Given the description of an element on the screen output the (x, y) to click on. 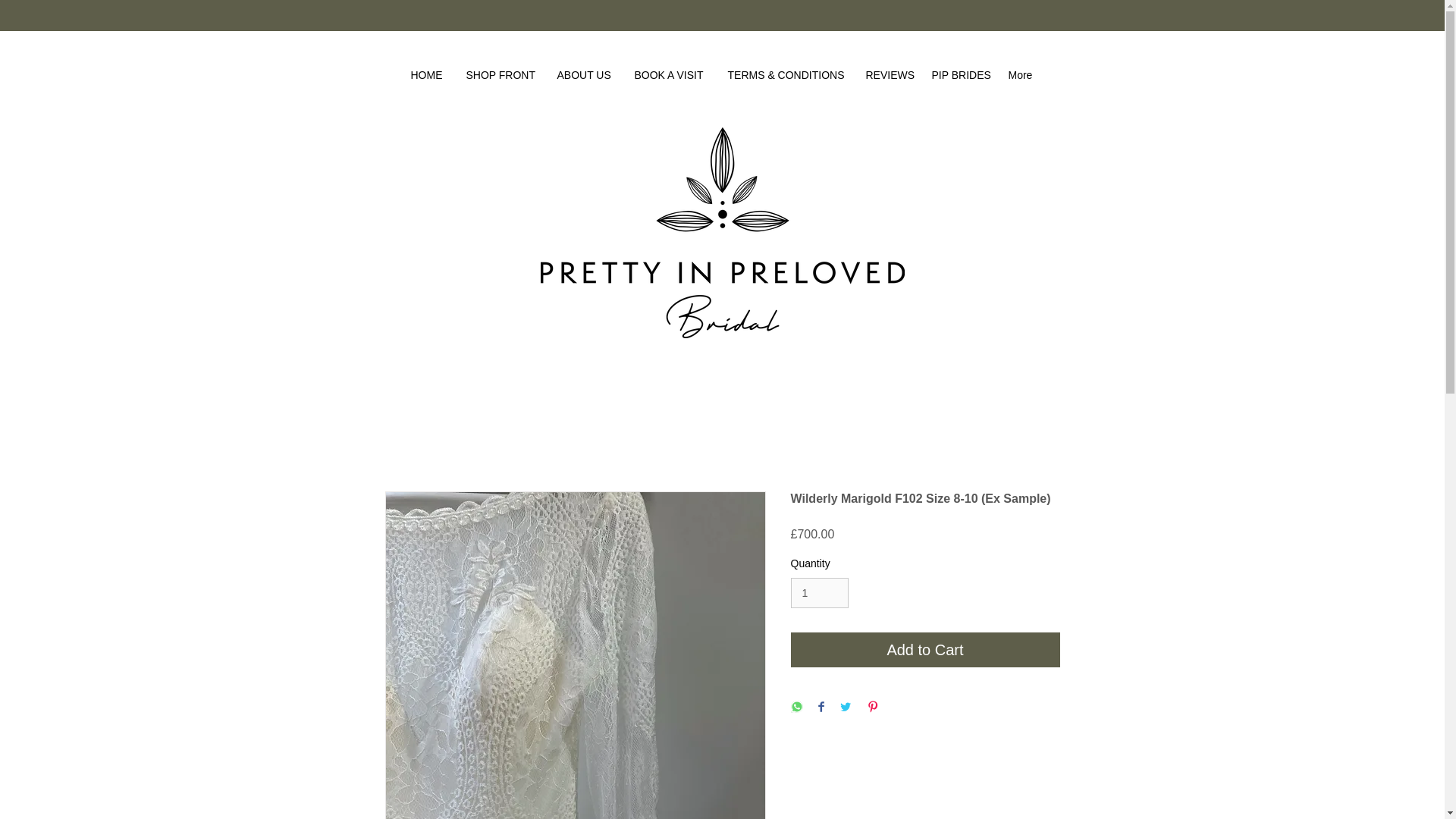
BOOK A VISIT (669, 75)
Add to Cart (924, 649)
1 (818, 593)
PIP BRIDES (958, 75)
SHOP FRONT (500, 75)
REVIEWS (886, 75)
ABOUT US (584, 75)
HOME (426, 75)
